Given the description of an element on the screen output the (x, y) to click on. 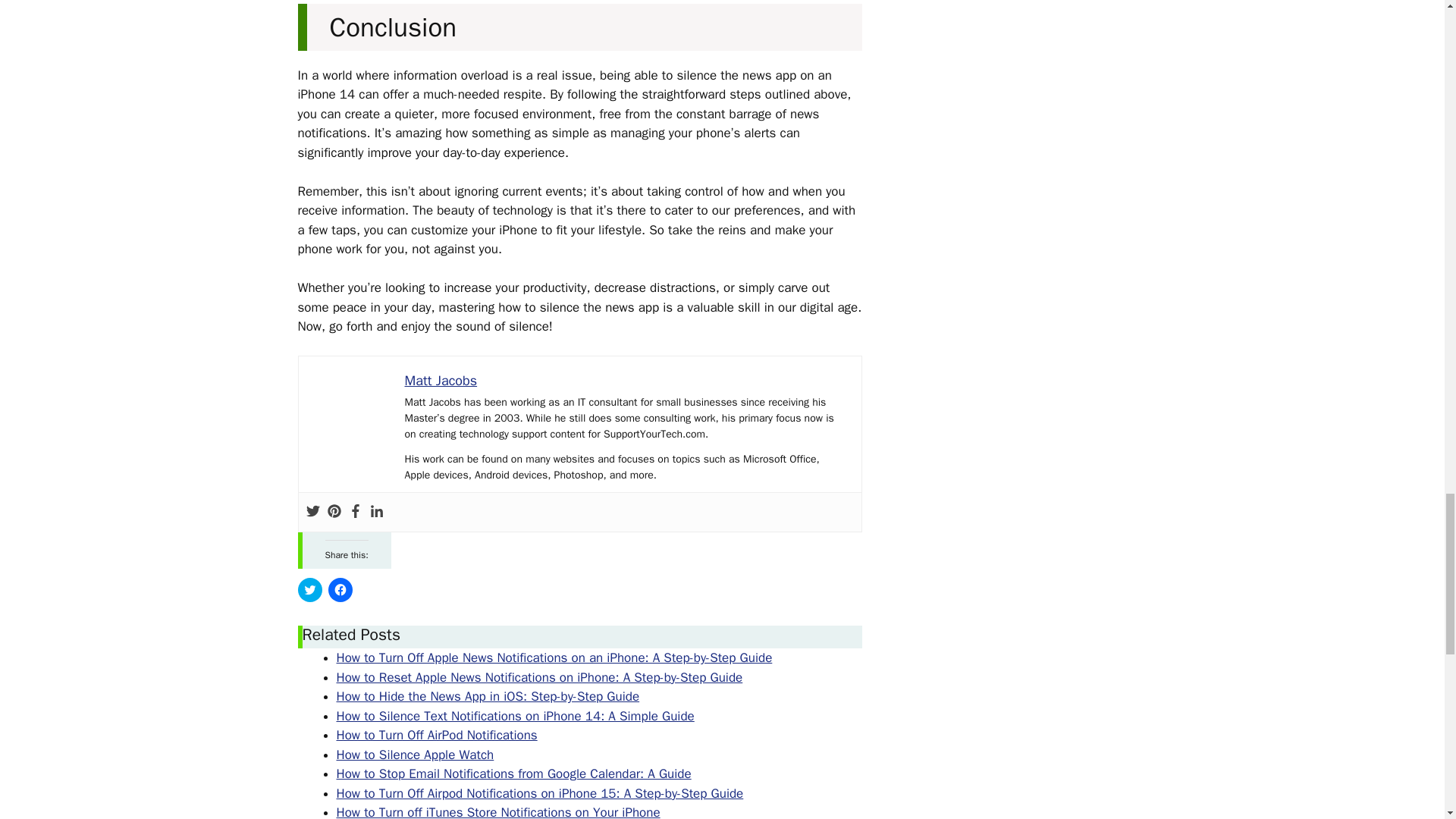
How to Turn off iTunes Store Notifications on Your iPhone (498, 811)
How to Turn Off AirPod Notifications (436, 734)
How to Hide the News App in iOS: Step-by-Step Guide (488, 696)
How to Silence Apple Watch (415, 754)
Matt Jacobs (440, 380)
